Given the description of an element on the screen output the (x, y) to click on. 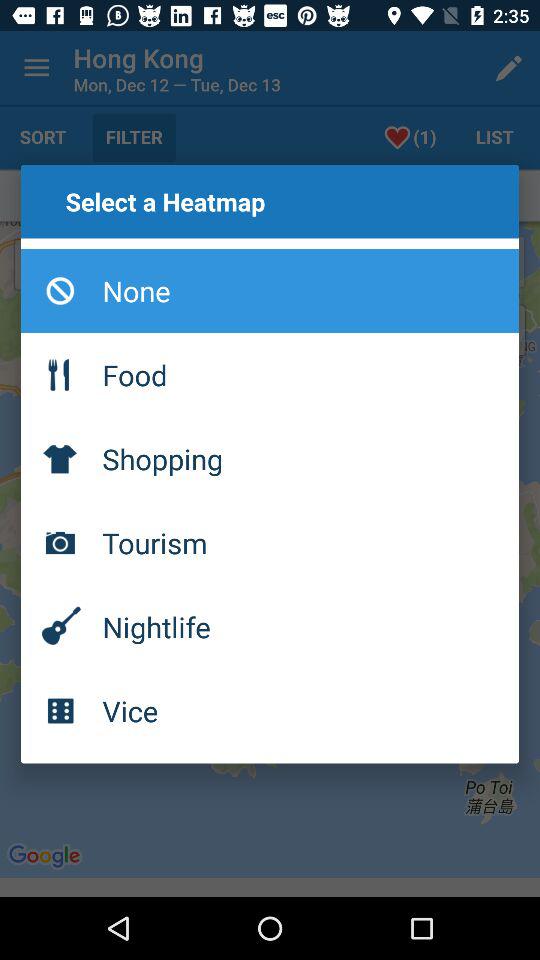
scroll to shopping (270, 458)
